Given the description of an element on the screen output the (x, y) to click on. 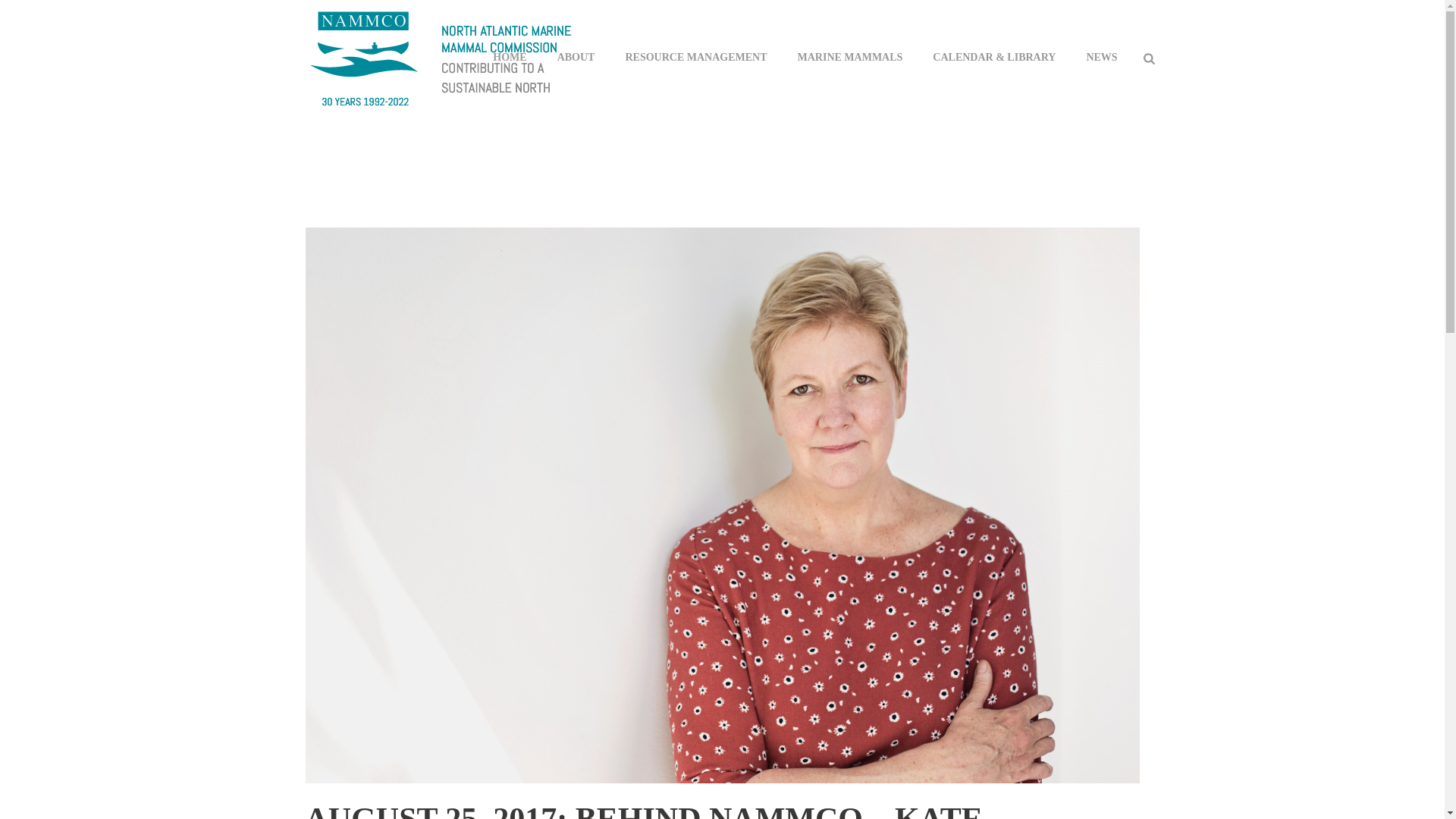
ABOUT (575, 57)
RESOURCE MANAGEMENT (695, 57)
RESOURCE MANAGEMENT (695, 57)
NEWS (1101, 57)
MARINE MAMMALS (850, 57)
HOME (509, 57)
ABOUT (575, 57)
HOME (509, 57)
